Given the description of an element on the screen output the (x, y) to click on. 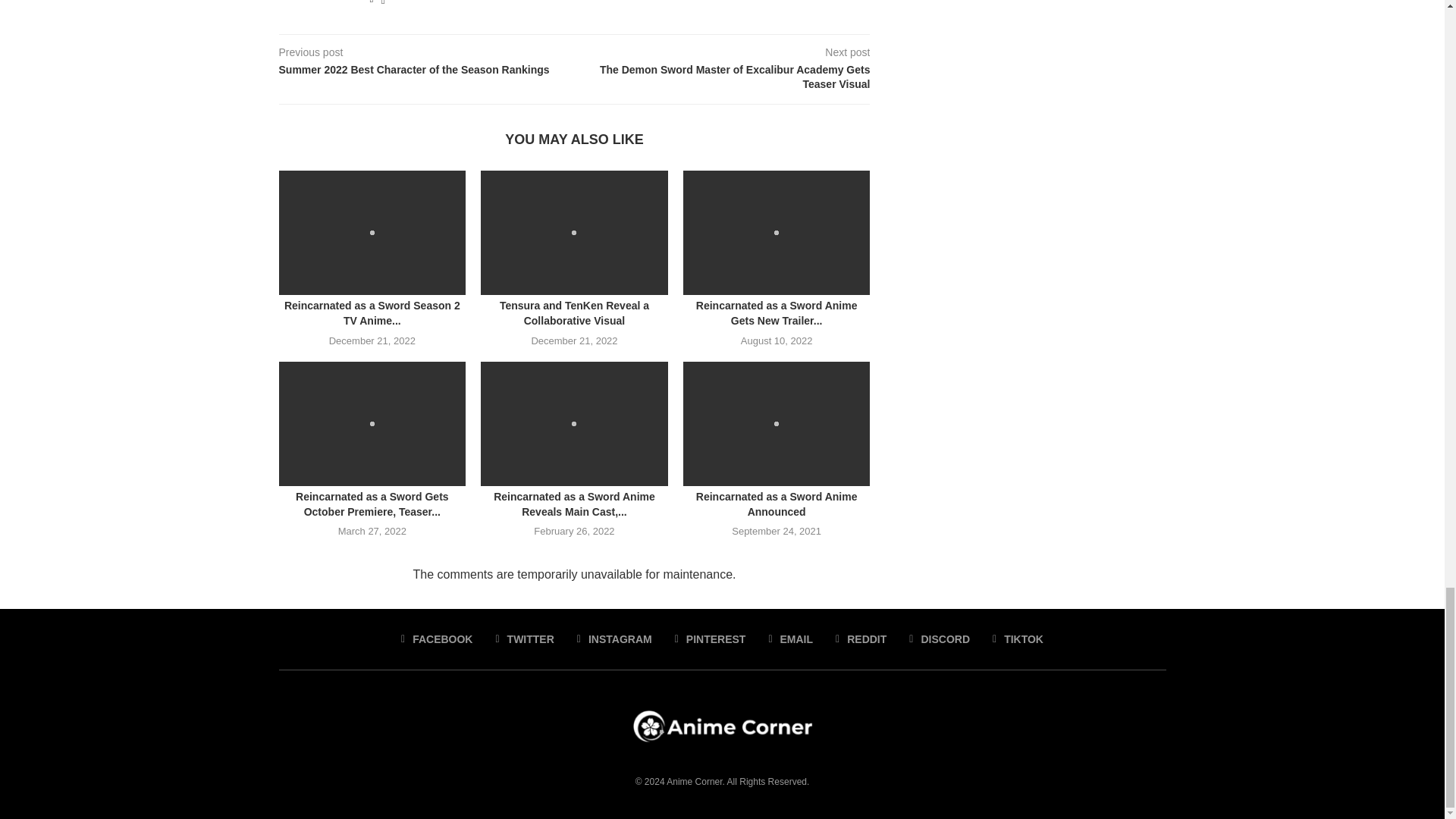
Tensura and TenKen Reveal a Collaborative Visual (574, 232)
Reincarnated as a Sword Season 2 TV Anime Announced (372, 232)
Reincarnated as a Sword Anime Announced (776, 423)
